Given the description of an element on the screen output the (x, y) to click on. 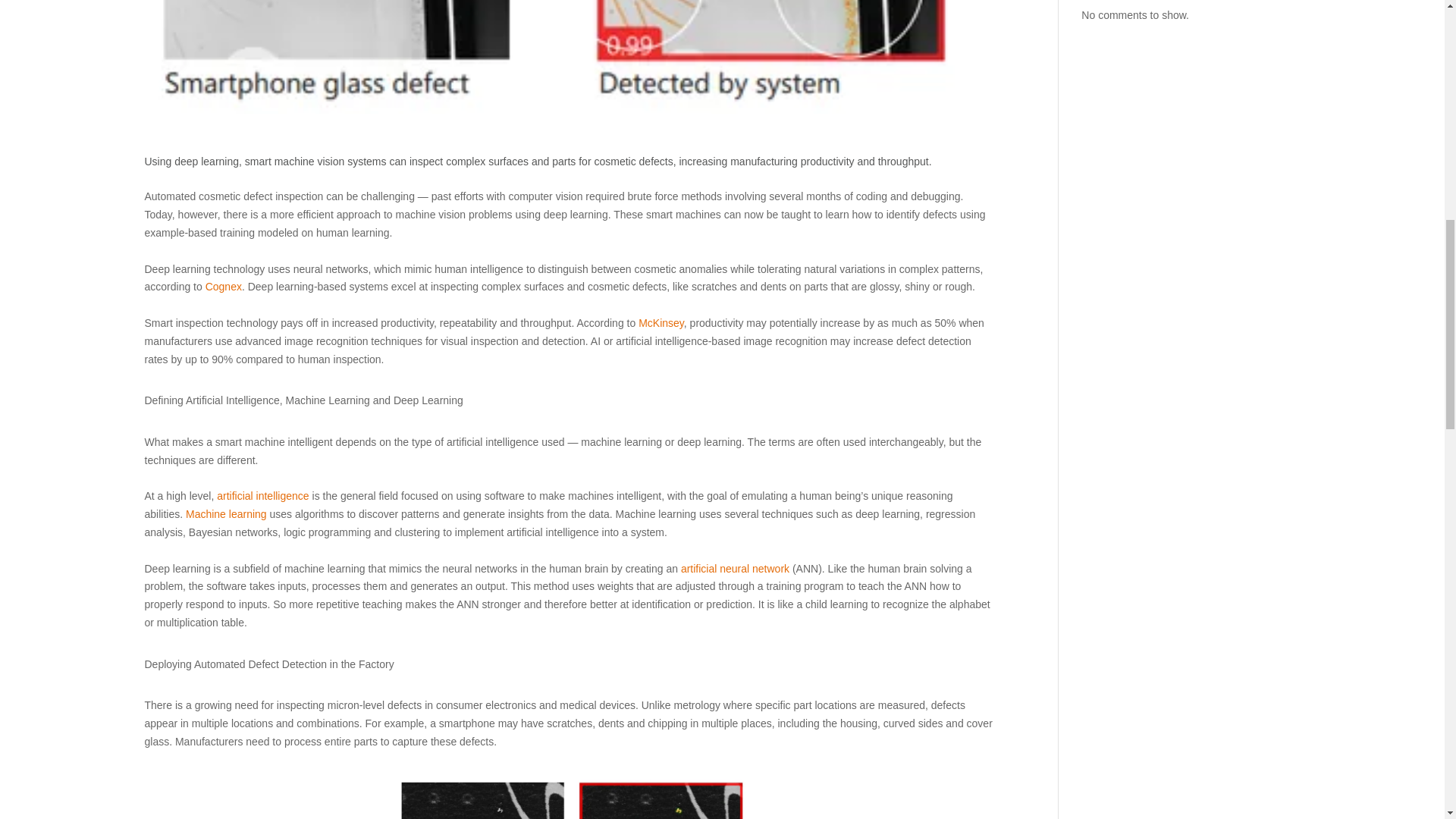
DWF13 (569, 796)
